Given the description of an element on the screen output the (x, y) to click on. 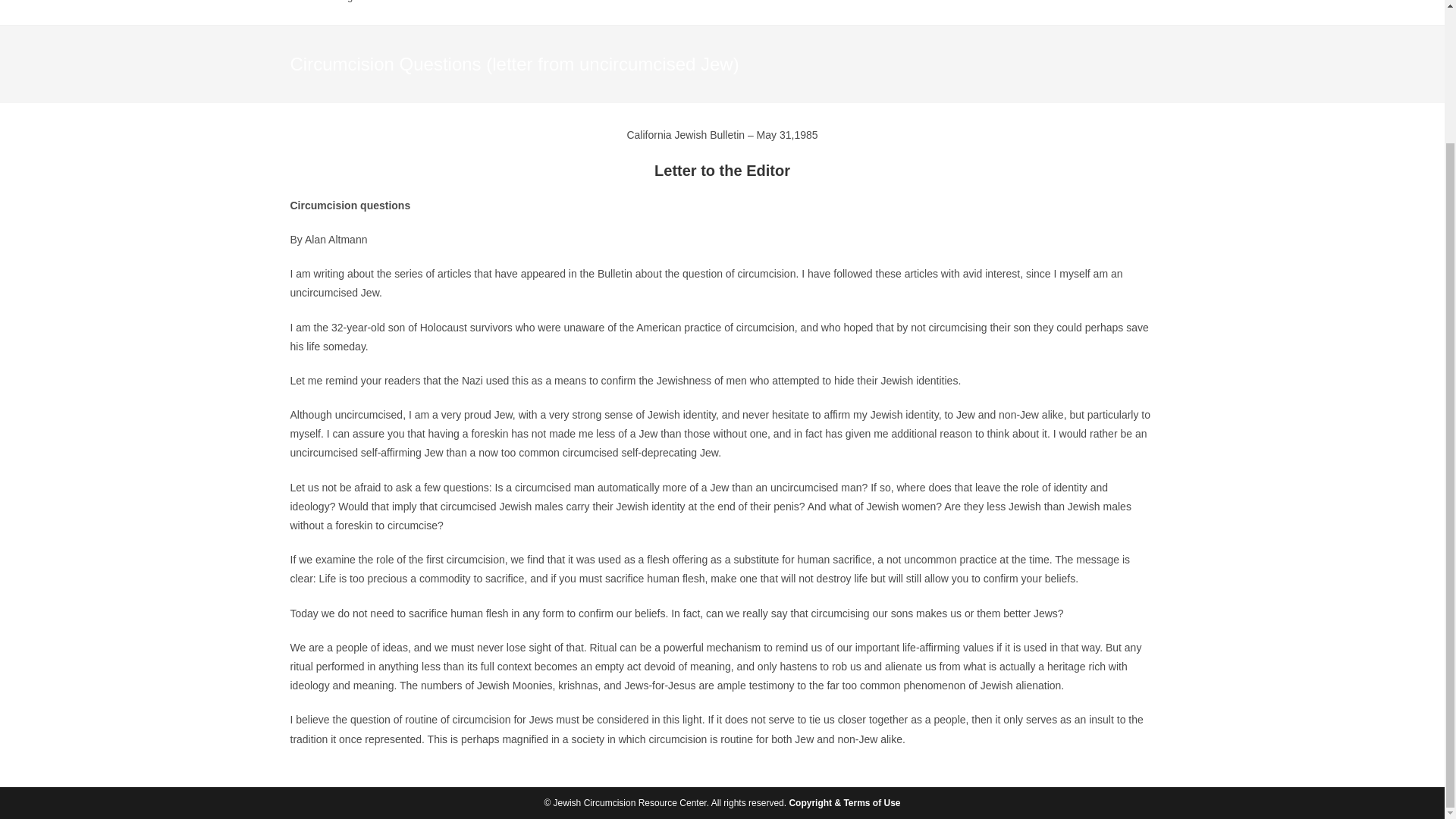
Toggle website search (462, 12)
Nonreligious Circumcision (375, 12)
